Given the description of an element on the screen output the (x, y) to click on. 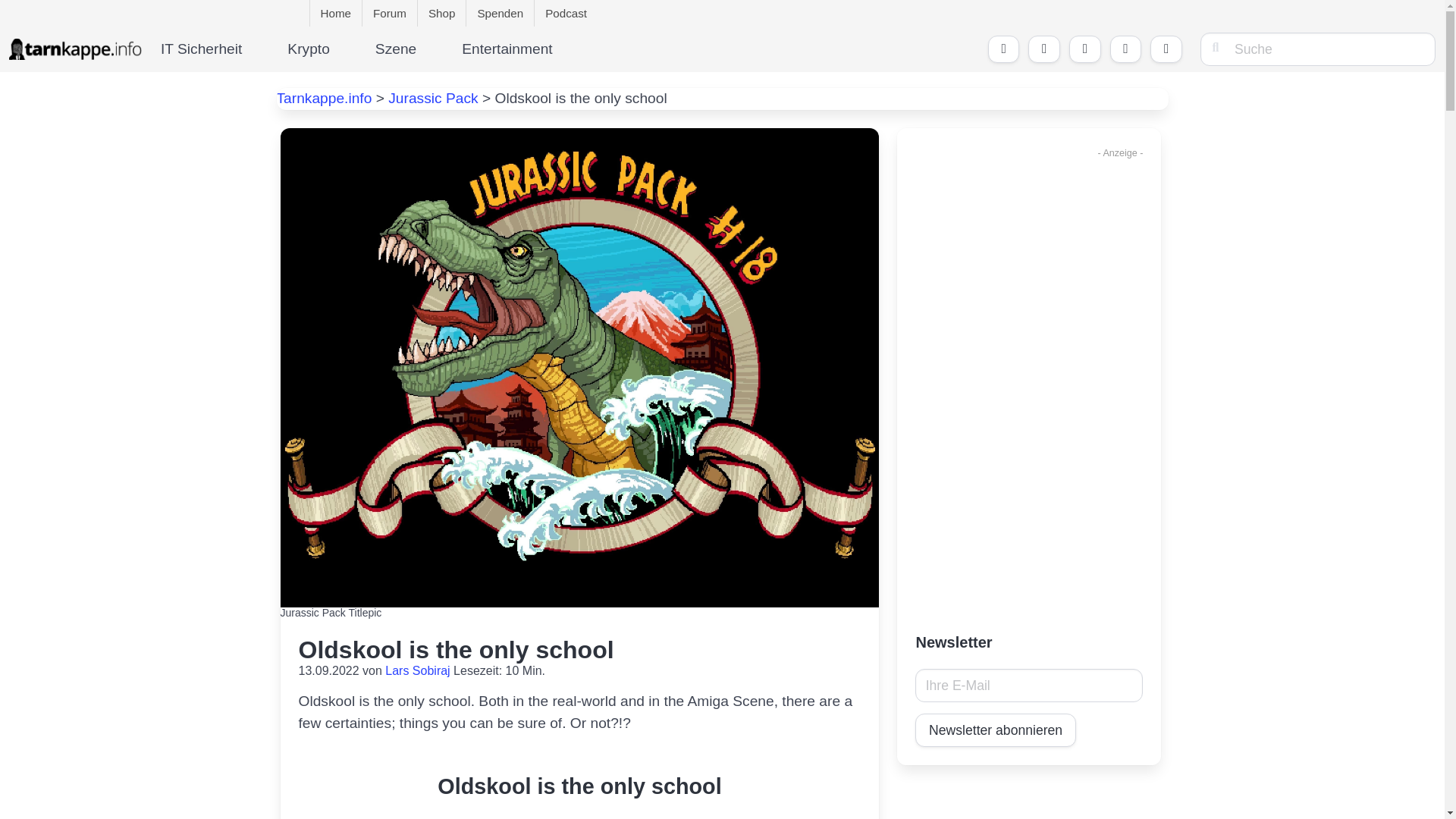
Forum (389, 13)
Telegram (1043, 49)
Entertainment (506, 49)
Podcast (565, 13)
Tarnkappe.info (323, 98)
Lars Sobiraj (417, 670)
Signal (1084, 49)
Google News (1004, 49)
Newsletter (1166, 49)
Spenden (499, 13)
Szene (409, 49)
Jurassic Pack (432, 98)
IT Sicherheit (214, 49)
Krypto (321, 49)
